Given the description of an element on the screen output the (x, y) to click on. 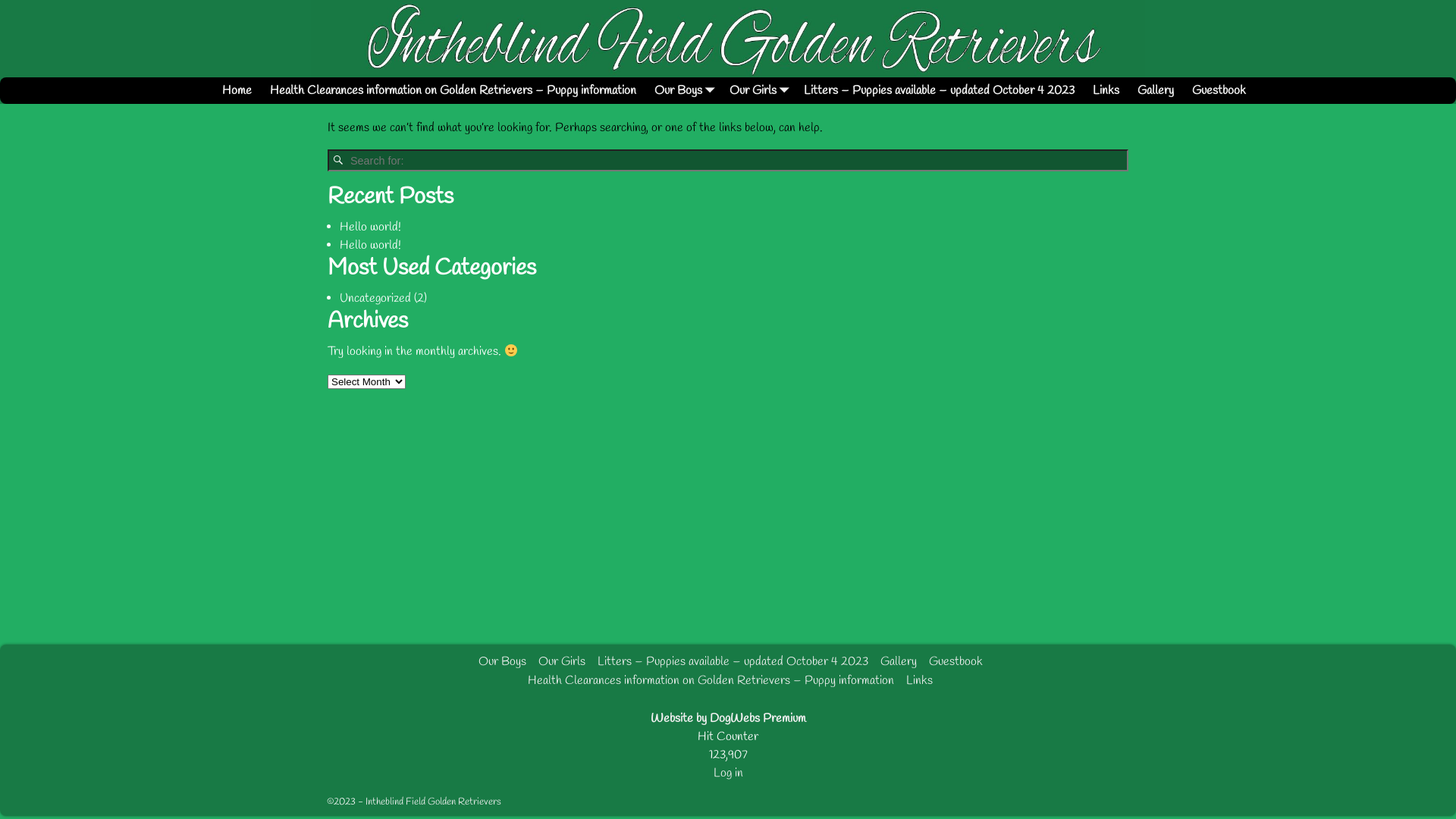
Our Girls Element type: text (561, 661)
Guestbook Element type: text (955, 661)
Guestbook Element type: text (1219, 90)
Home Element type: text (236, 90)
Our Boys Element type: text (501, 661)
Website by DogWebs Premium Element type: text (728, 718)
Links Element type: text (919, 680)
Our Girls Element type: text (757, 90)
Uncategorized Element type: text (375, 298)
Hello world! Element type: text (370, 245)
Hello world! Element type: text (370, 227)
Links Element type: text (1105, 90)
Intheblind Field Golden Retrievers Element type: text (433, 801)
Our Boys Element type: text (682, 90)
Log in Element type: text (727, 773)
Gallery Element type: text (1155, 90)
Gallery Element type: text (897, 661)
